Given the description of an element on the screen output the (x, y) to click on. 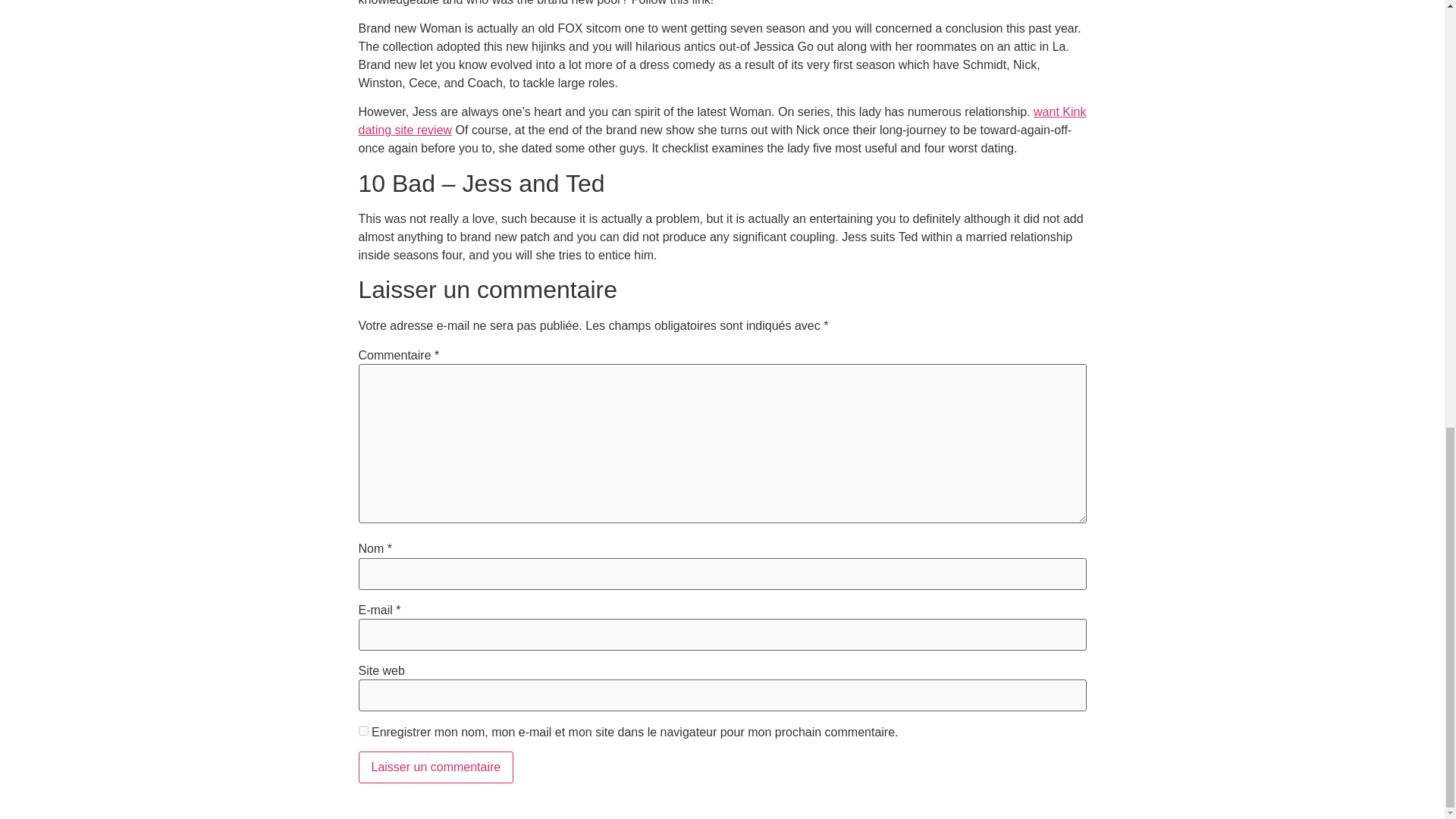
yes (363, 730)
Laisser un commentaire (435, 766)
Laisser un commentaire (435, 766)
want Kink dating site review (722, 120)
